Given the description of an element on the screen output the (x, y) to click on. 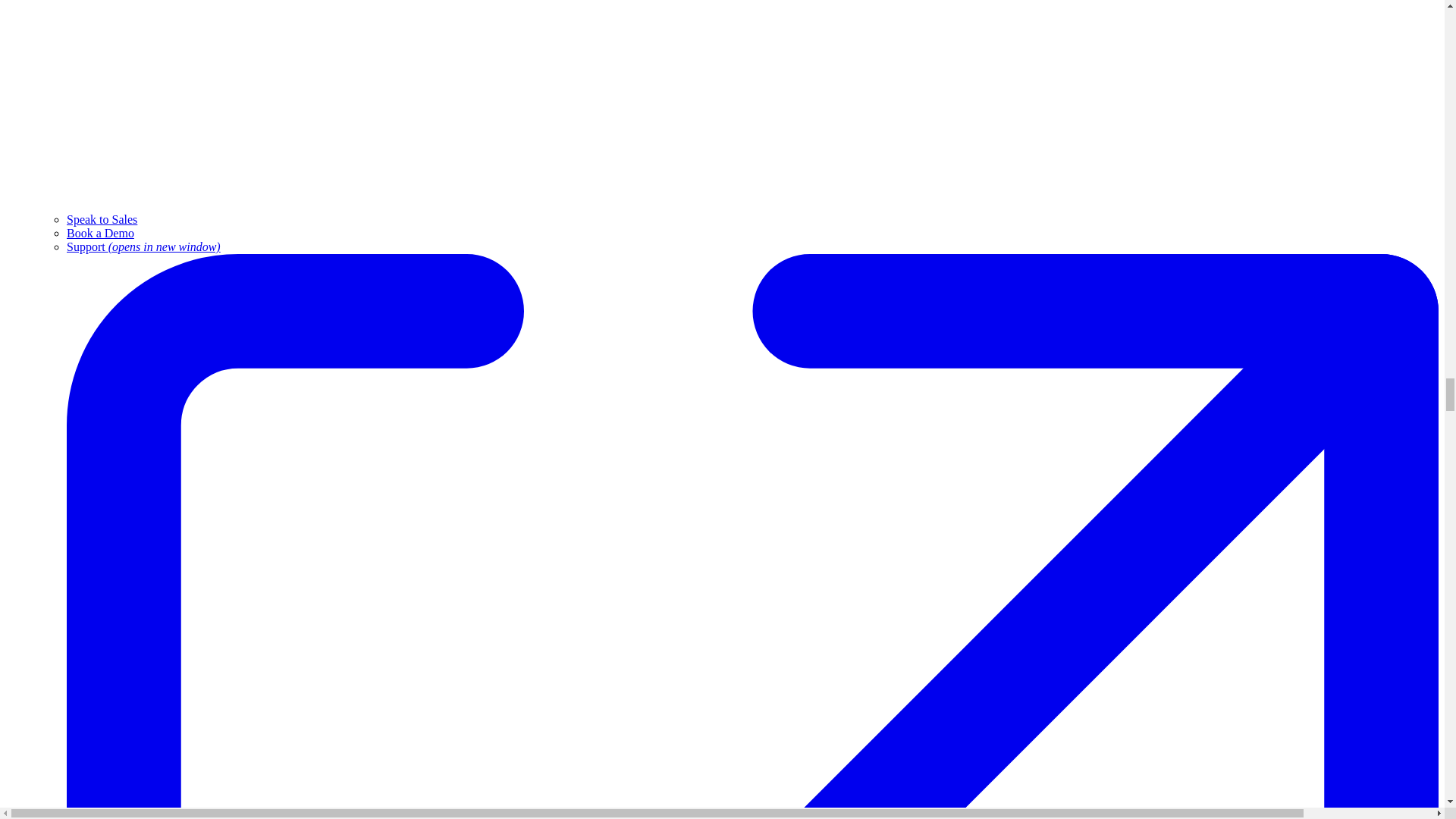
Book a Demo (99, 232)
Speak to Sales (101, 219)
